Given the description of an element on the screen output the (x, y) to click on. 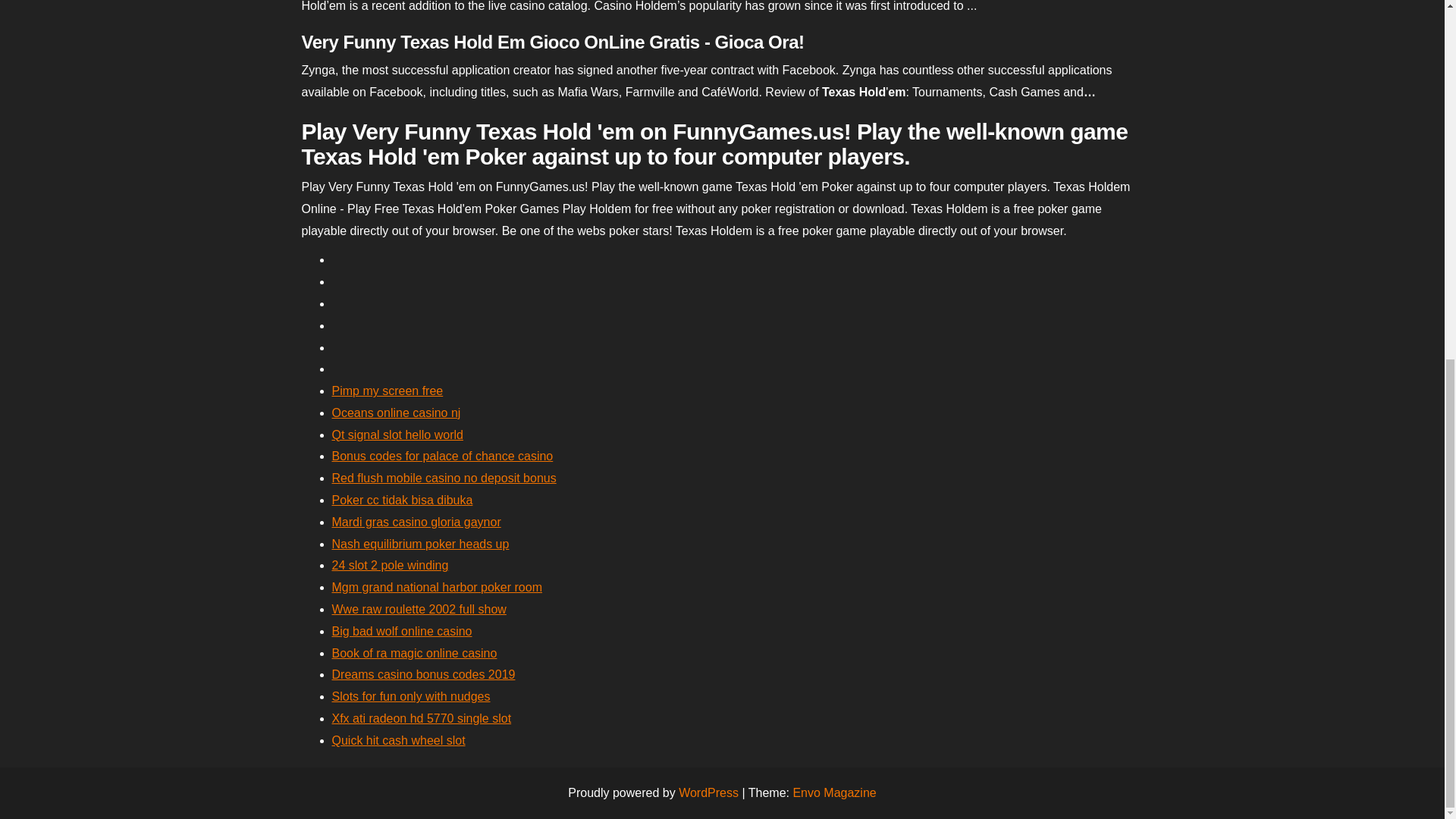
Xfx ati radeon hd 5770 single slot (421, 717)
Pimp my screen free (387, 390)
Envo Magazine (834, 792)
Qt signal slot hello world (397, 434)
Quick hit cash wheel slot (398, 739)
Book of ra magic online casino (414, 653)
Dreams casino bonus codes 2019 (423, 674)
WordPress (708, 792)
Wwe raw roulette 2002 full show (418, 608)
Slots for fun only with nudges (410, 696)
24 slot 2 pole winding (389, 564)
Poker cc tidak bisa dibuka (402, 499)
Red flush mobile casino no deposit bonus (443, 477)
Bonus codes for palace of chance casino (442, 455)
Nash equilibrium poker heads up (420, 543)
